Given the description of an element on the screen output the (x, y) to click on. 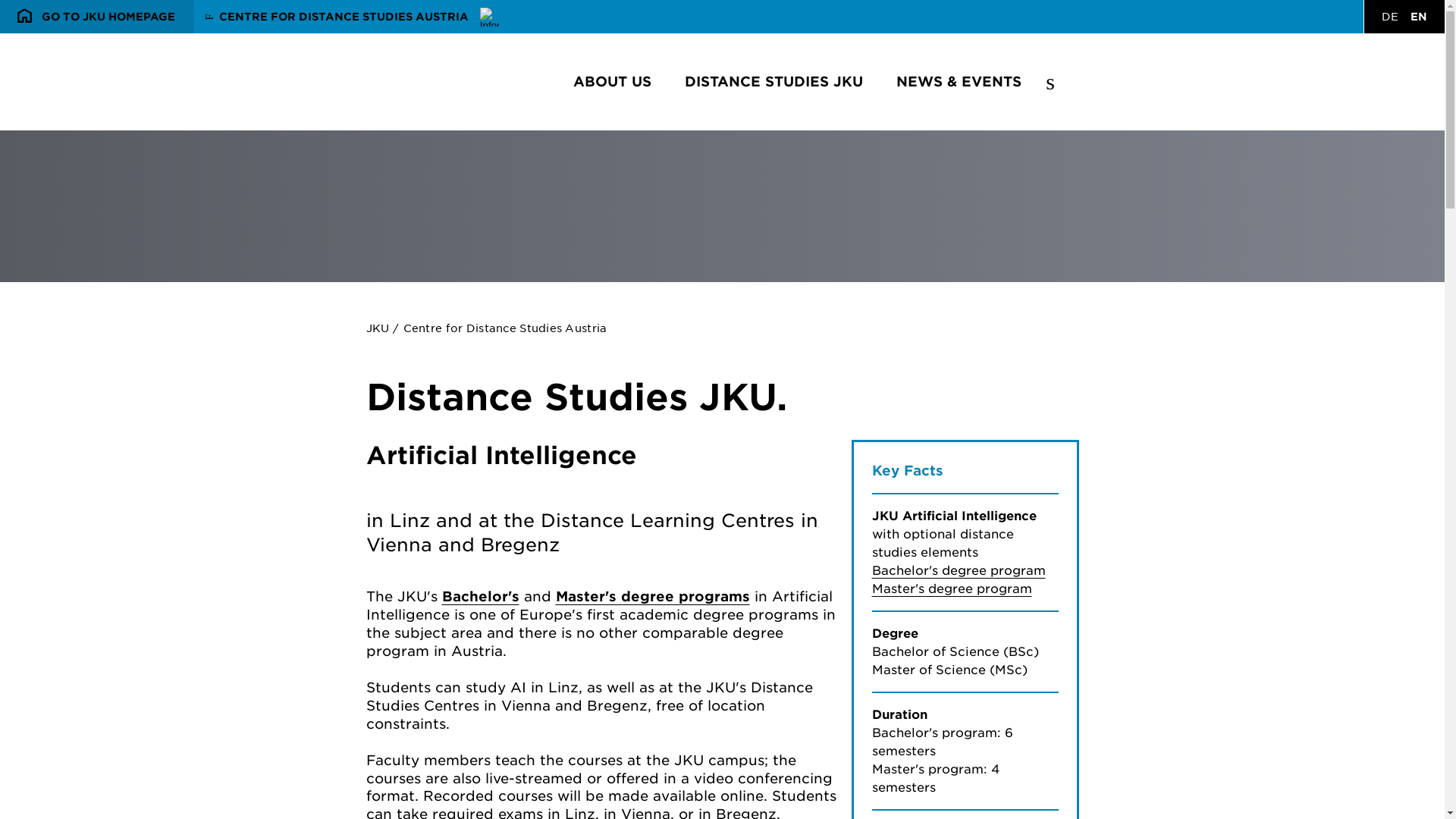
ABOUT US (1418, 16)
GO TO JKU HOMEPAGE (612, 80)
